Given the description of an element on the screen output the (x, y) to click on. 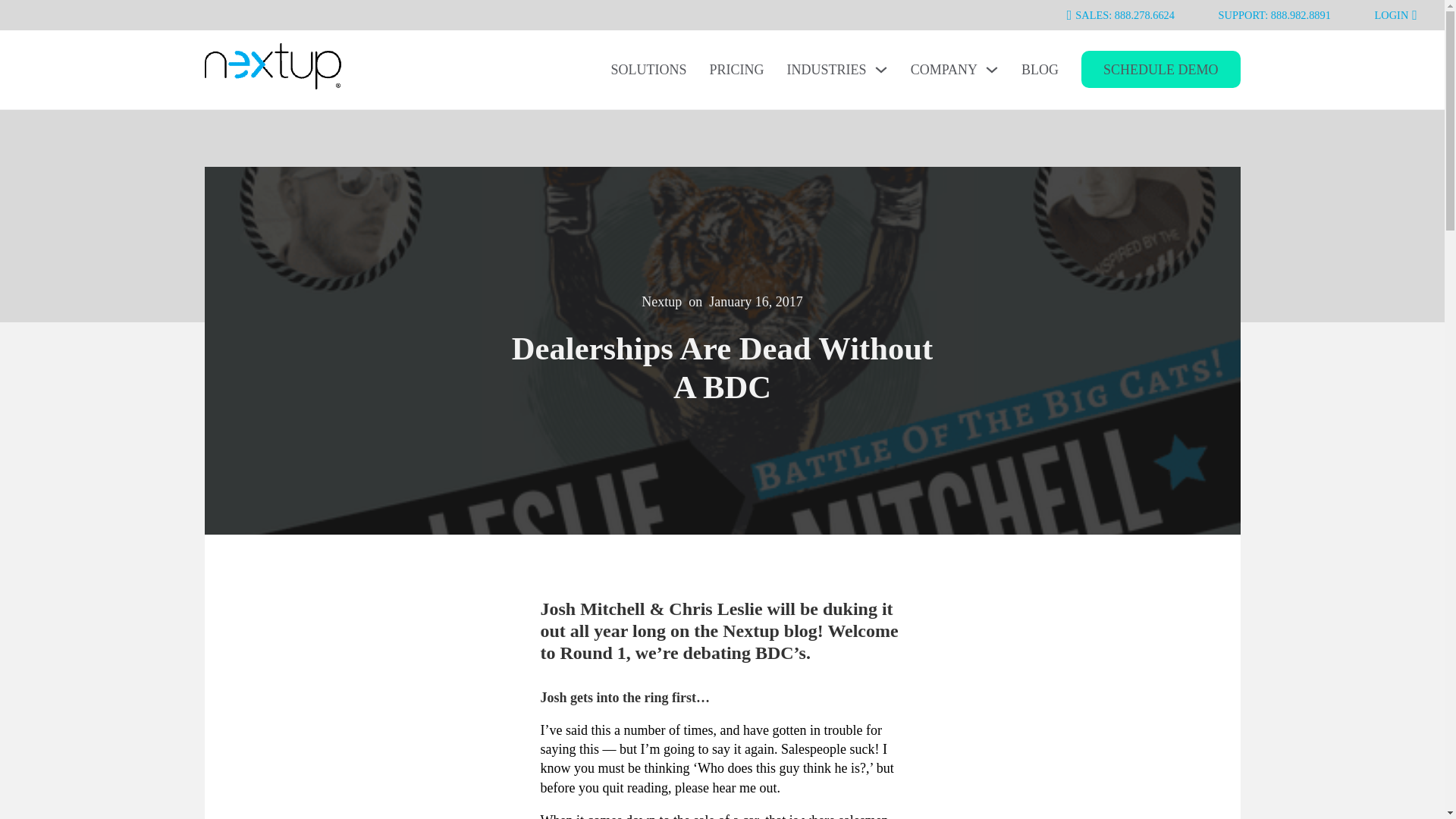
SCHEDULE DEMO (1160, 68)
SUPPORT: 888.982.8891 (1274, 15)
LOGIN (1395, 15)
PRICING (737, 69)
SOLUTIONS (649, 69)
INDUSTRIES (826, 69)
COMPANY (943, 69)
SALES: 888.278.6624 (1120, 15)
BLOG (1040, 69)
